Given the description of an element on the screen output the (x, y) to click on. 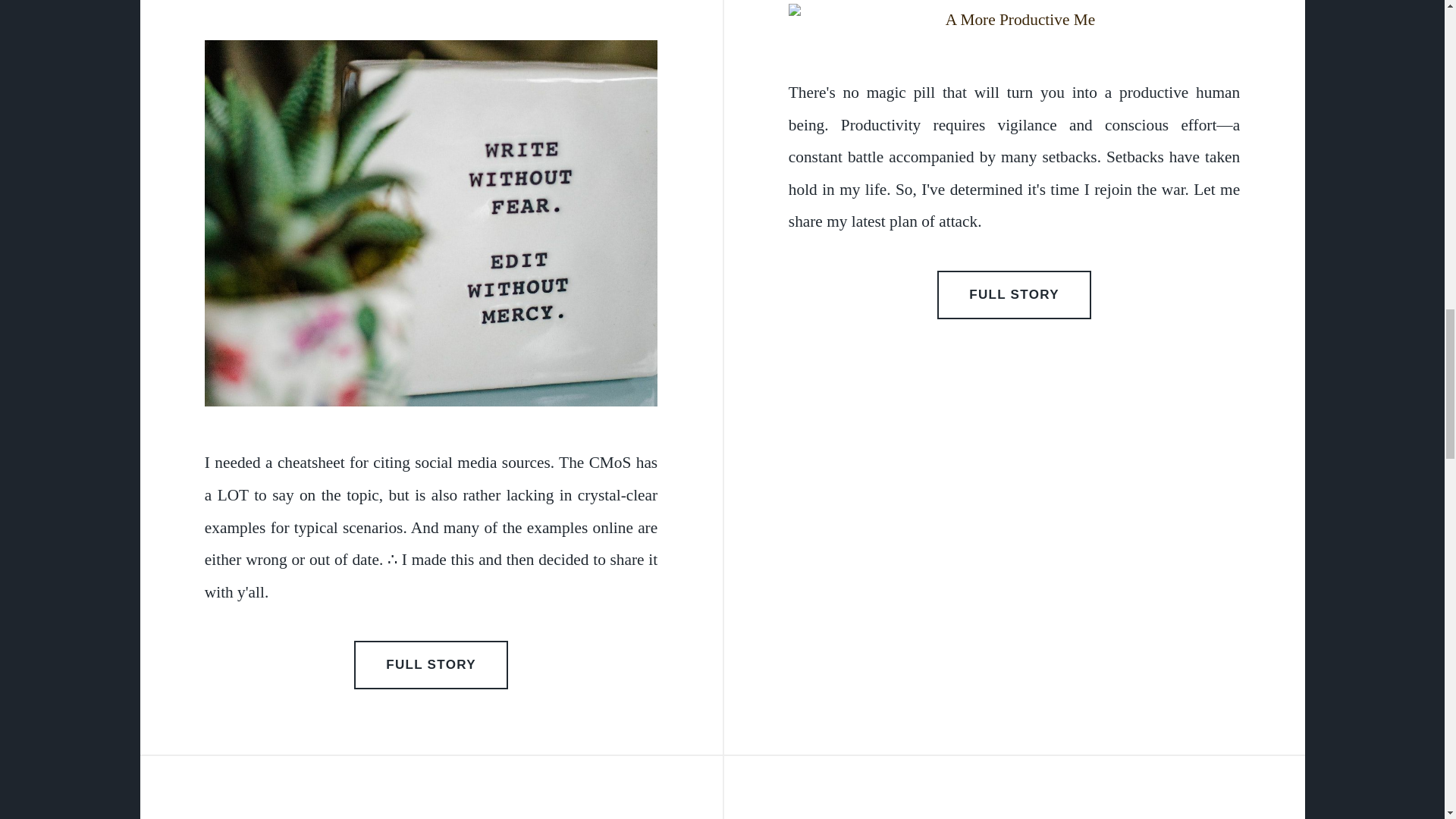
FULL STORY (430, 664)
FULL STORY (1014, 295)
